Given the description of an element on the screen output the (x, y) to click on. 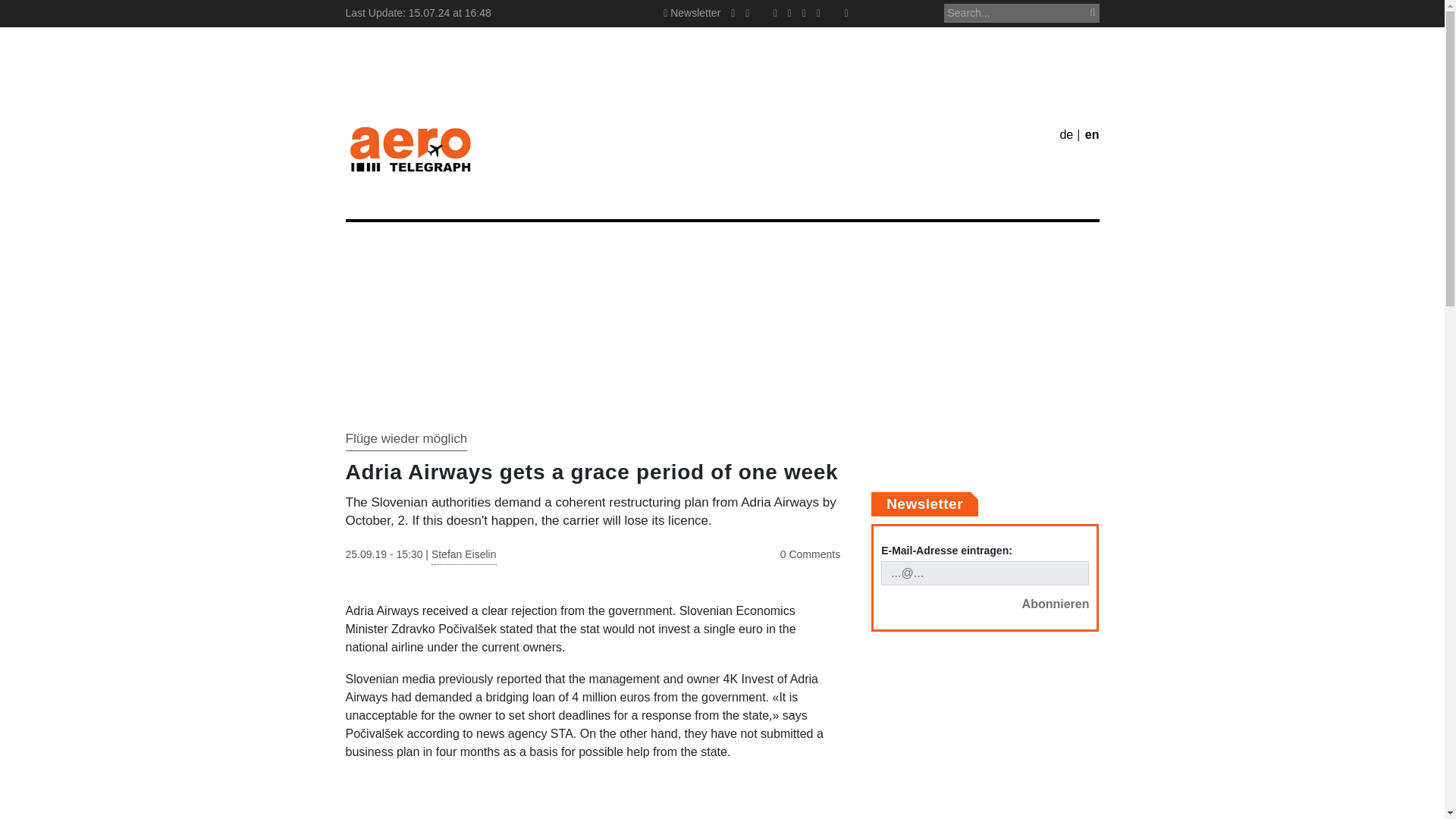
de (1066, 133)
Stefan Eiselin (463, 556)
Newsletter (691, 12)
Abonnieren (1055, 603)
Search... (1021, 13)
en (1091, 133)
Newsletter (691, 12)
Abonnieren (1055, 603)
